Given the description of an element on the screen output the (x, y) to click on. 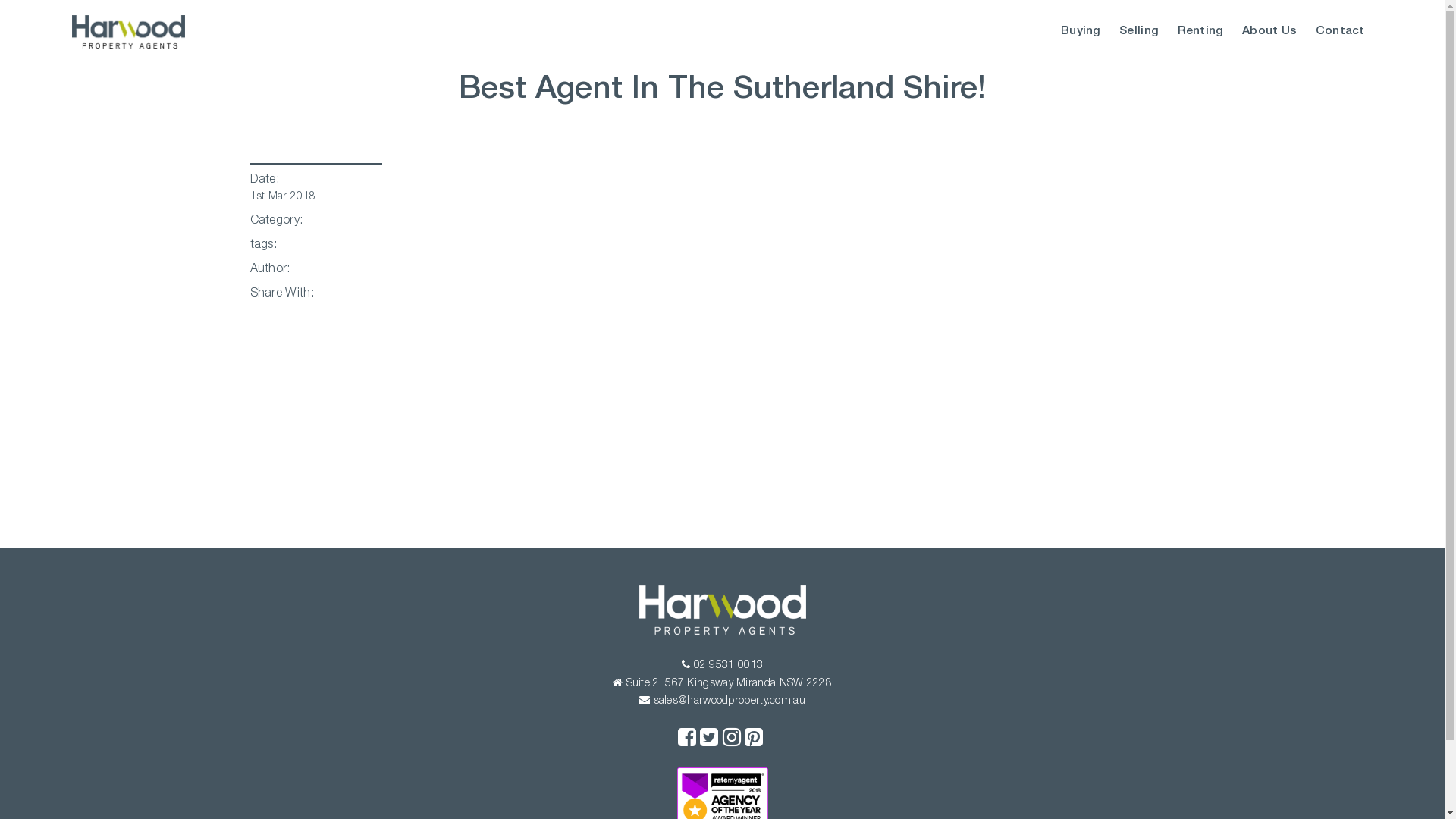
Pinterest Element type: hover (753, 739)
About Us Element type: text (1269, 31)
Address Element type: hover (617, 682)
sales@harwoodproperty.com.au Element type: text (722, 701)
Contact Element type: text (1340, 31)
Twitter Element type: hover (708, 739)
Phone Element type: hover (685, 663)
Real Estate Agents Miranda, Yowie Bay NSW -  Element type: hover (128, 31)
02 9531 0013 Element type: text (721, 665)
Instagram Element type: hover (730, 739)
Facebook Element type: hover (686, 739)
Selling Element type: text (1138, 31)
Email Element type: hover (644, 699)
Real Estate Agents Miranda, Yowie Bay NSW Element type: hover (721, 632)
Buying Element type: text (1080, 31)
Renting Element type: text (1199, 31)
